Given the description of an element on the screen output the (x, y) to click on. 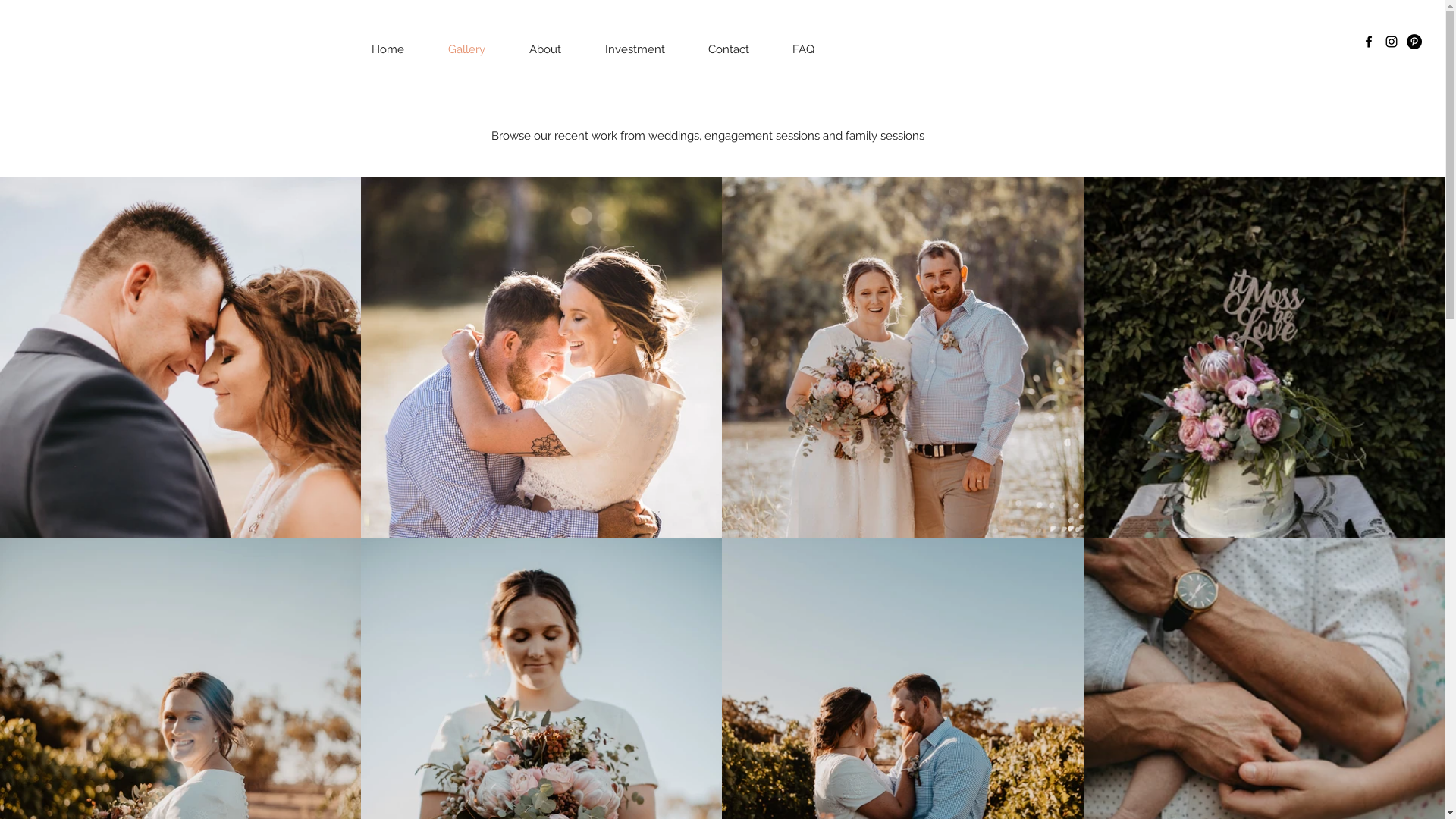
Home Element type: text (387, 49)
About Element type: text (545, 49)
FAQ Element type: text (802, 49)
Investment Element type: text (634, 49)
Gallery Element type: text (466, 49)
Contact Element type: text (728, 49)
